Given the description of an element on the screen output the (x, y) to click on. 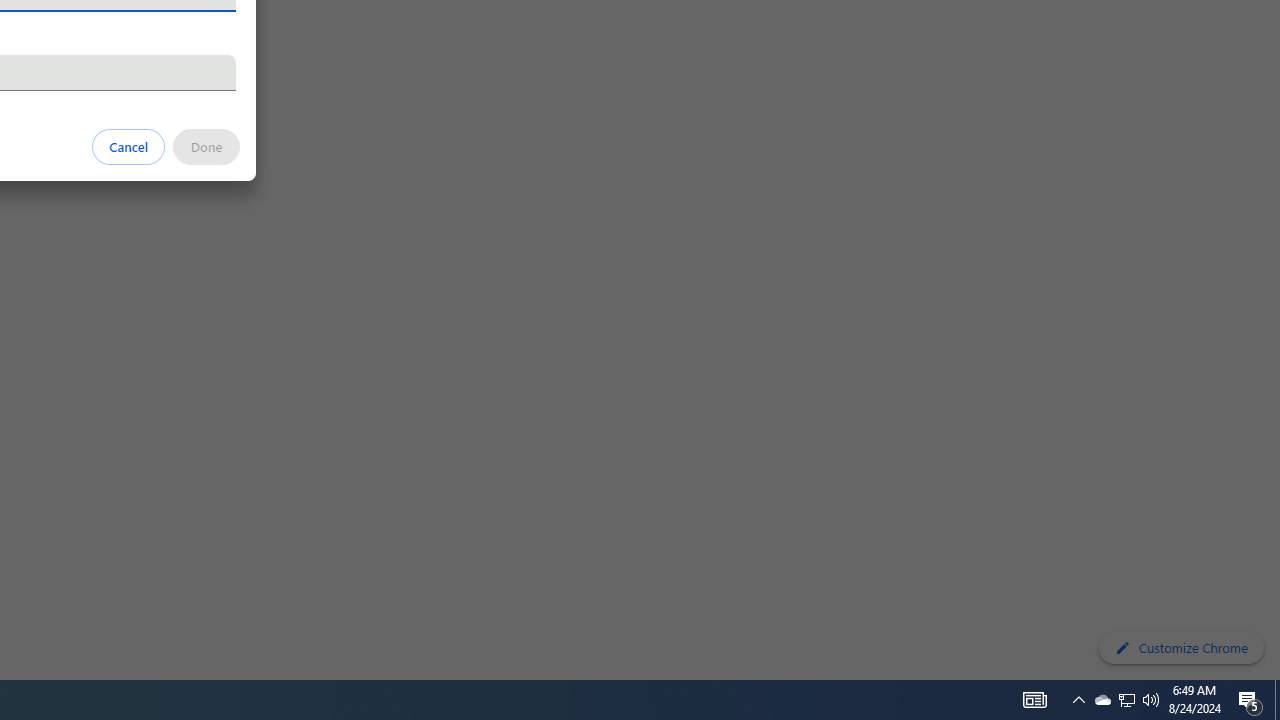
Cancel (129, 146)
Done (206, 146)
